Given the description of an element on the screen output the (x, y) to click on. 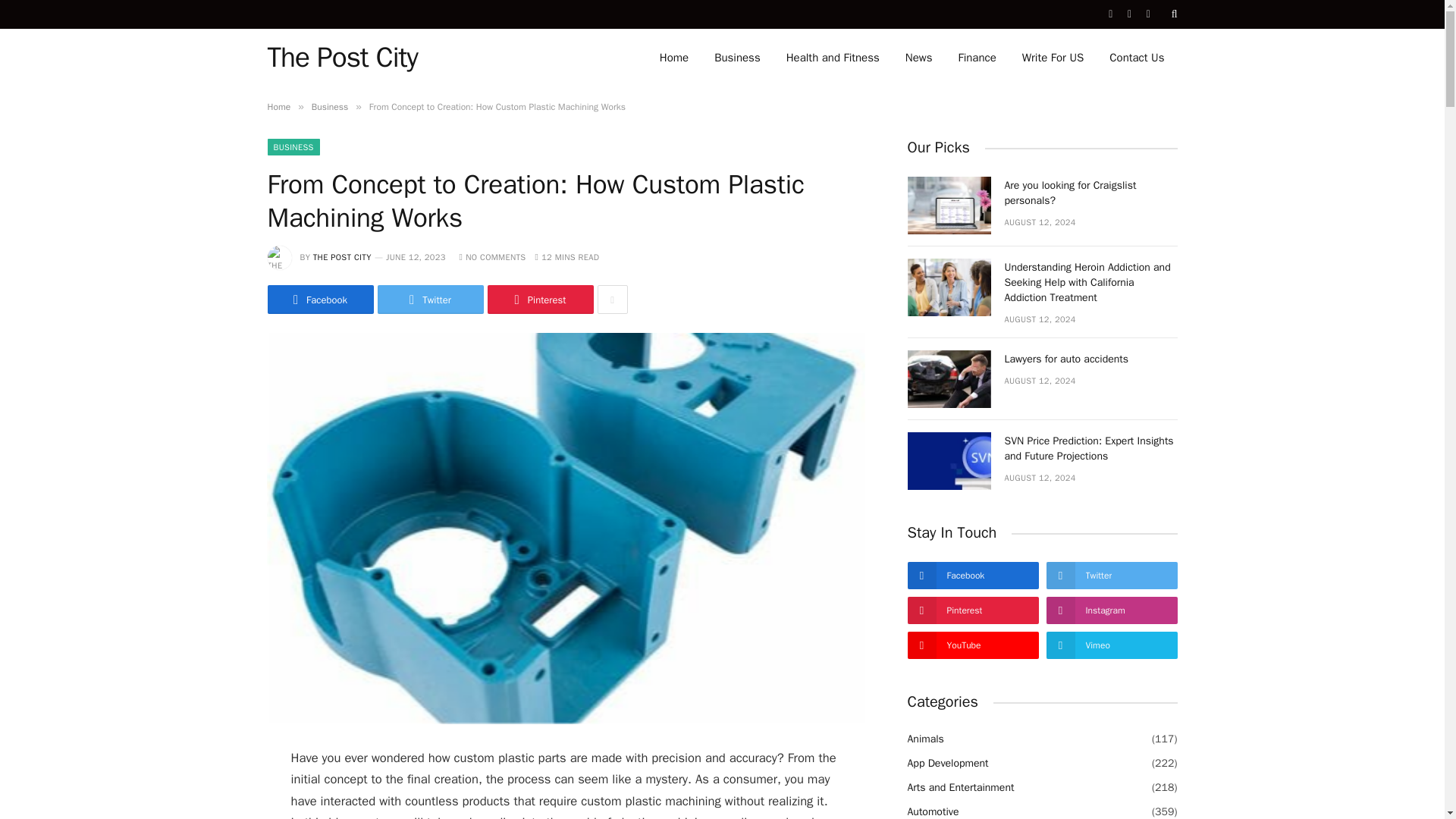
The Post City (341, 57)
Posts by The Post City (342, 256)
Show More Social Sharing (611, 299)
Share on Pinterest (539, 299)
Share on Facebook (319, 299)
